Given the description of an element on the screen output the (x, y) to click on. 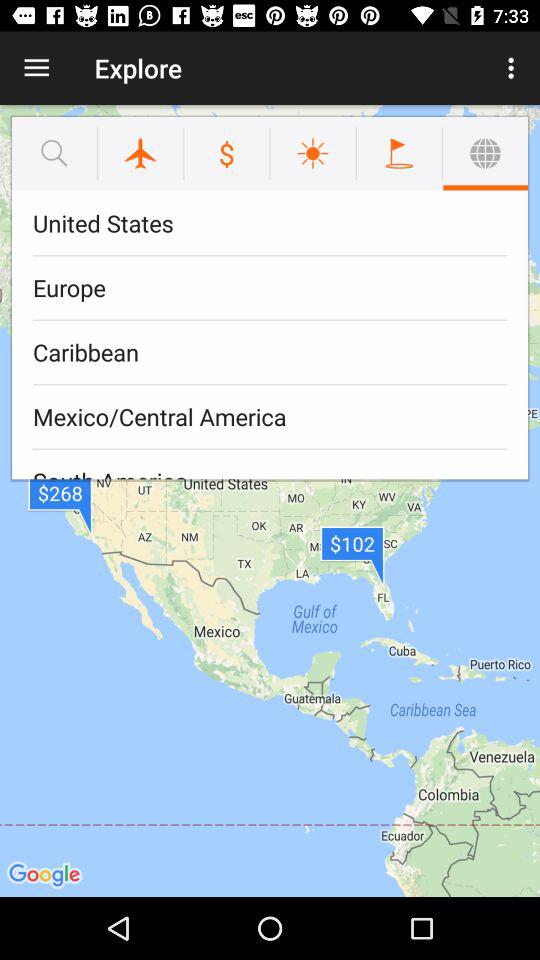
flip to europe item (270, 287)
